Given the description of an element on the screen output the (x, y) to click on. 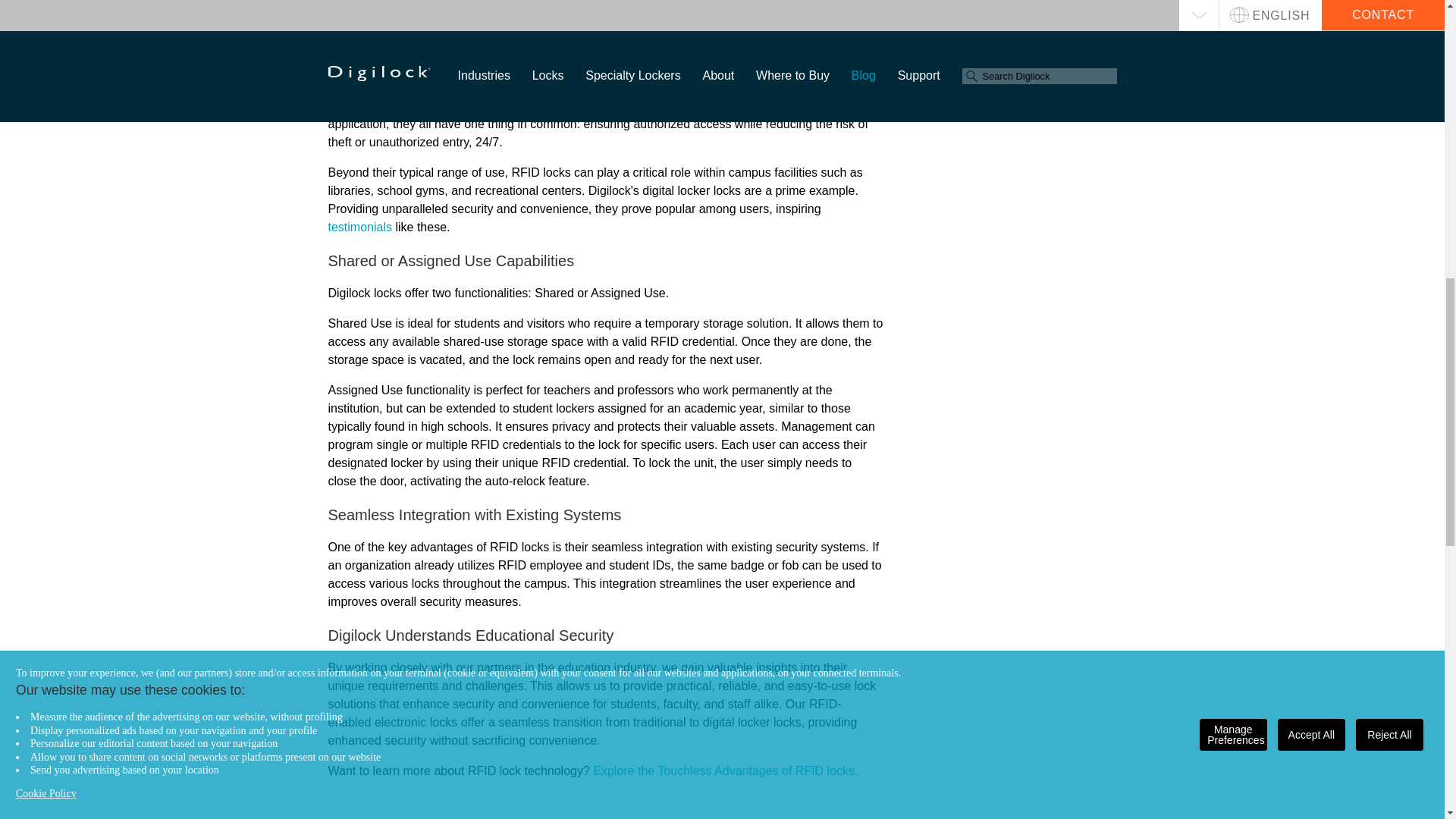
RFID locker locks (374, 69)
here (595, 4)
